Given the description of an element on the screen output the (x, y) to click on. 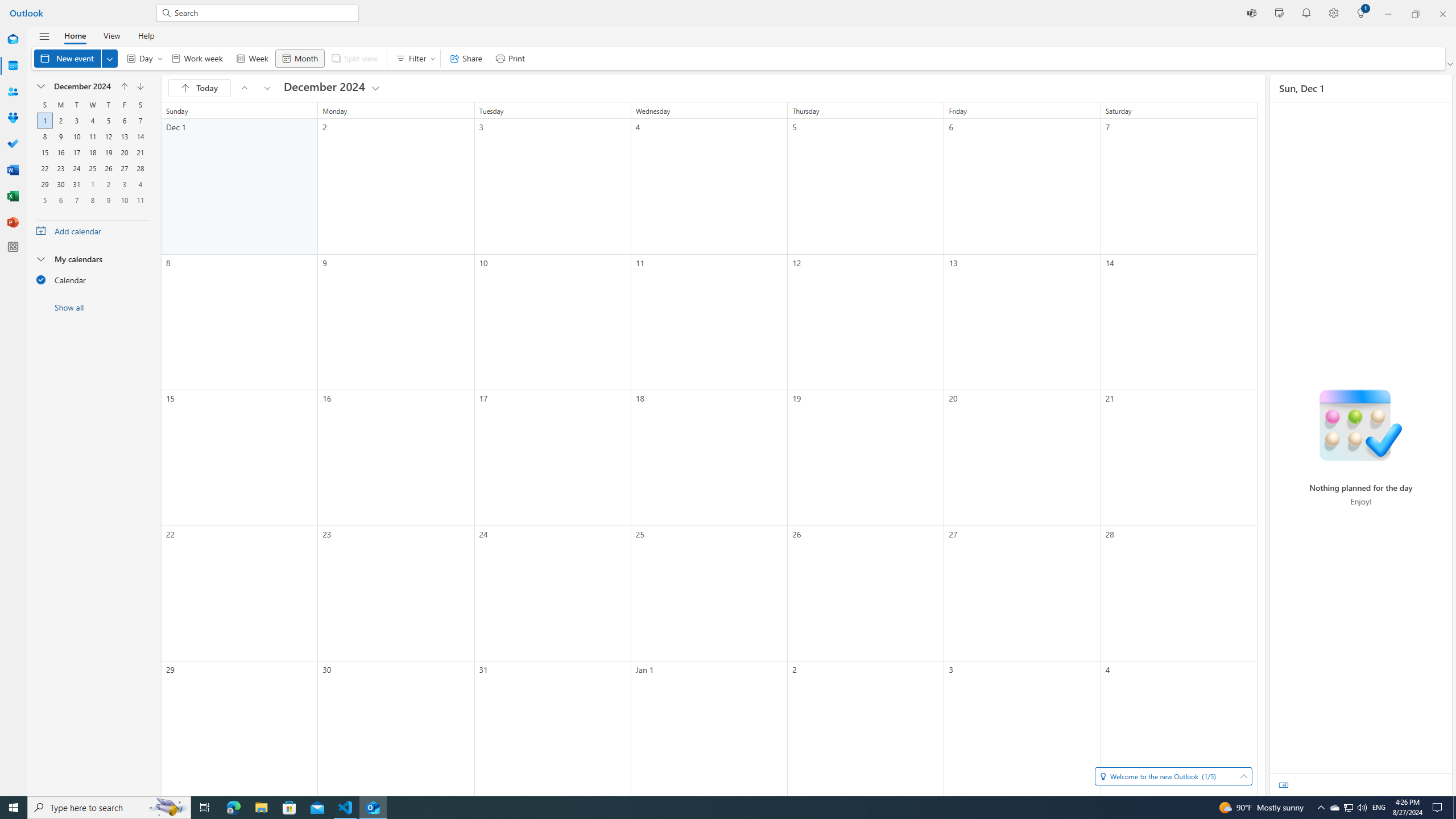
13, December, 2024 (1333, 807)
18, December, 2024 (124, 136)
6, January, 2025 (92, 152)
Word (60, 200)
3, December, 2024 (12, 169)
Action Center, No new notifications (76, 120)
Share (1439, 807)
14, December, 2024 (465, 58)
Filter (140, 136)
29, December, 2024 (413, 58)
6, December, 2024 (44, 183)
4, December, 2024 (124, 120)
16, December, 2024 (92, 120)
10, January, 2025 (60, 152)
